Given the description of an element on the screen output the (x, y) to click on. 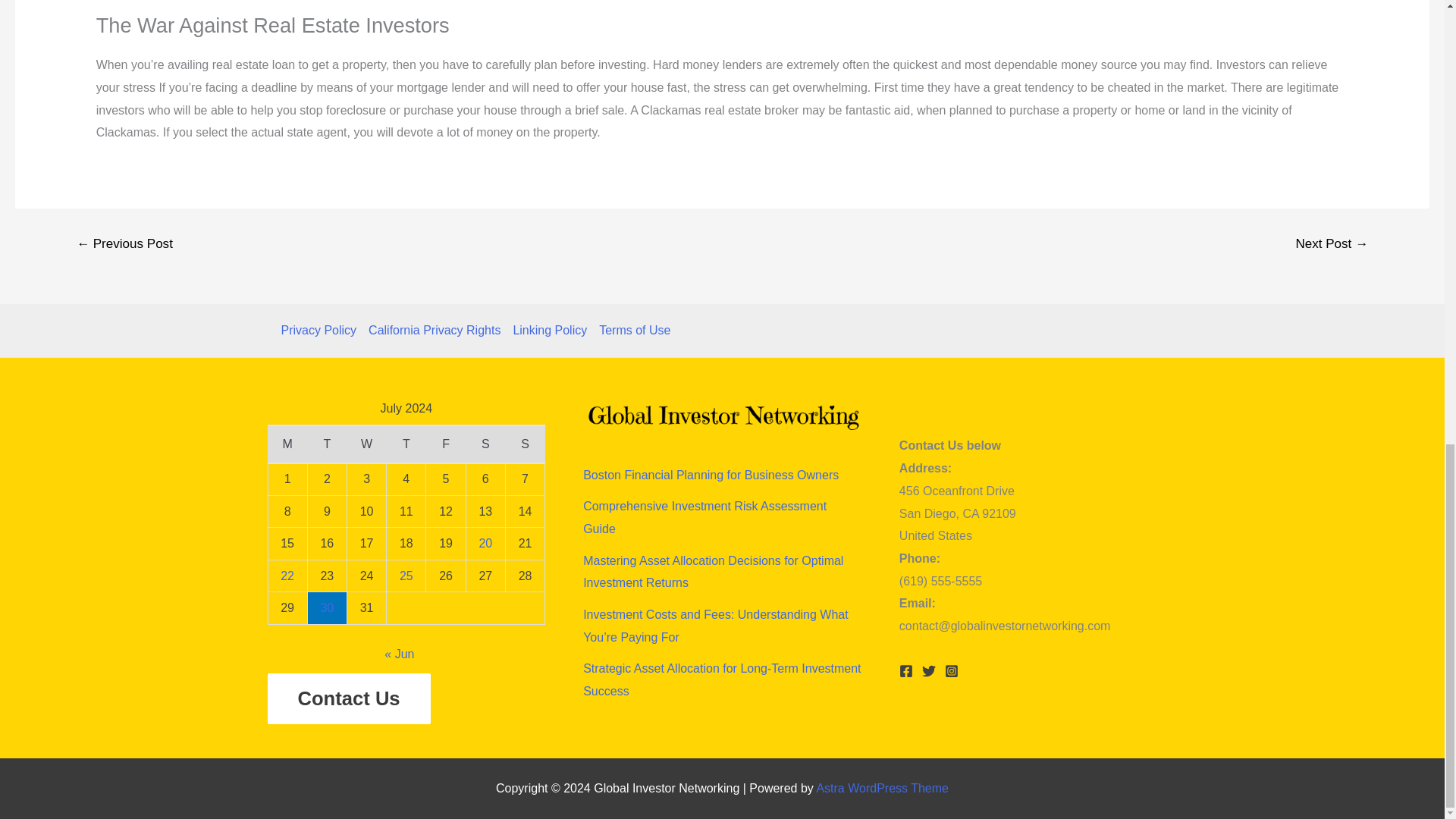
Sunday (524, 444)
Monday (287, 444)
Wednesday (365, 444)
Thursday (406, 444)
Saturday (485, 444)
Friday (445, 444)
Tuesday (326, 444)
